Given the description of an element on the screen output the (x, y) to click on. 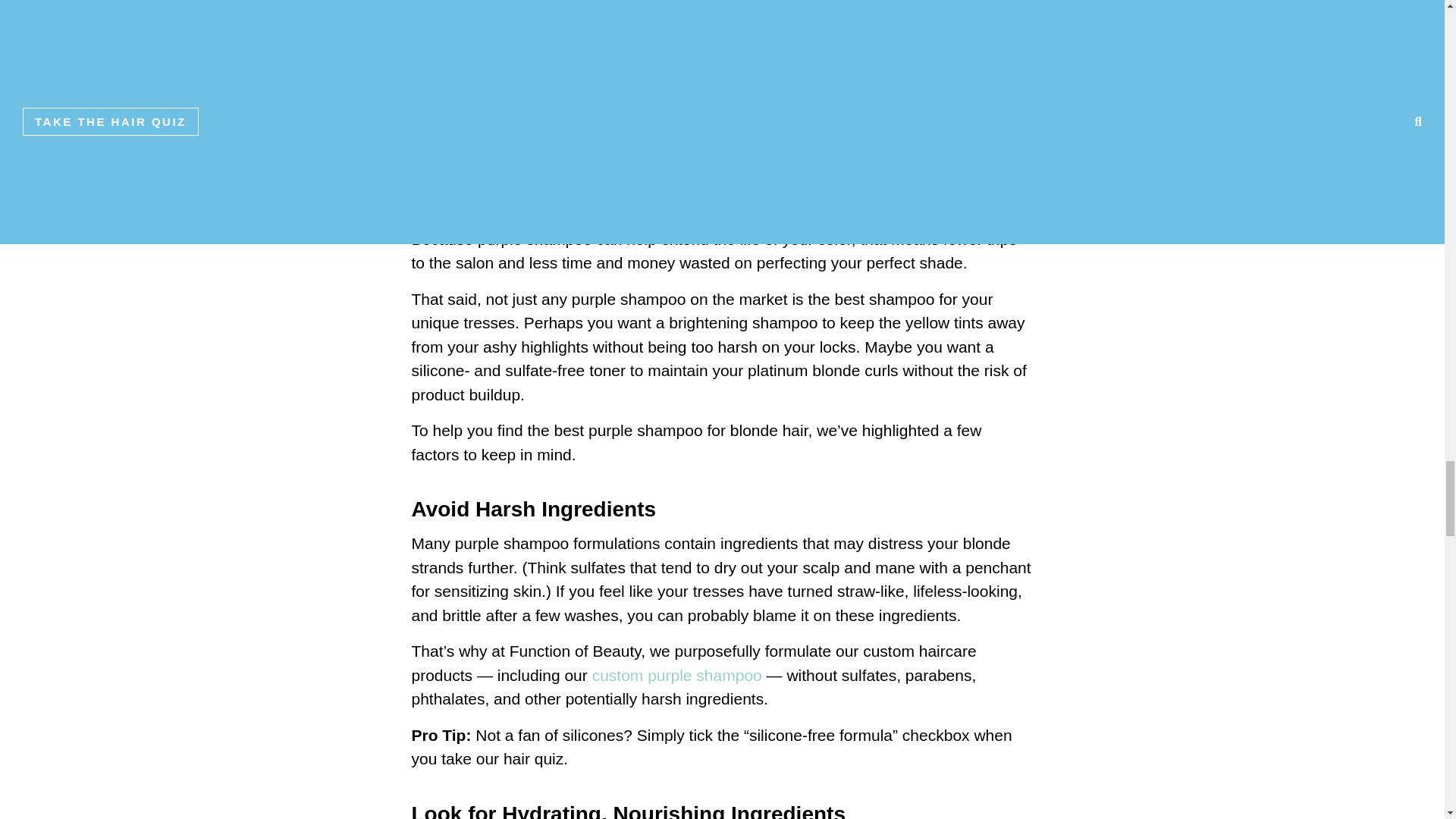
custom purple shampoo (676, 674)
